Given the description of an element on the screen output the (x, y) to click on. 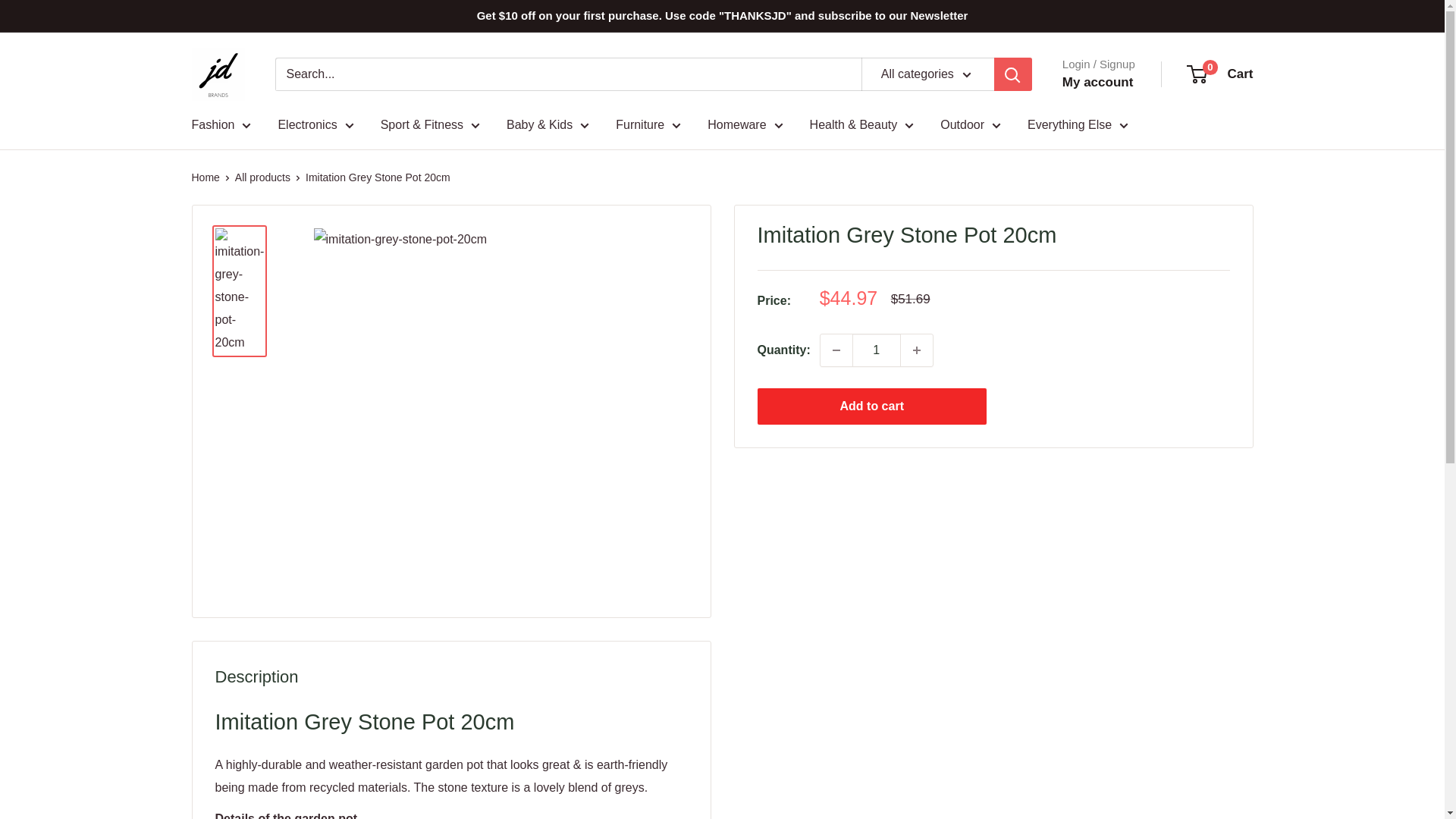
Increase quantity by 1 (917, 349)
Decrease quantity by 1 (836, 349)
1 (876, 349)
